Given the description of an element on the screen output the (x, y) to click on. 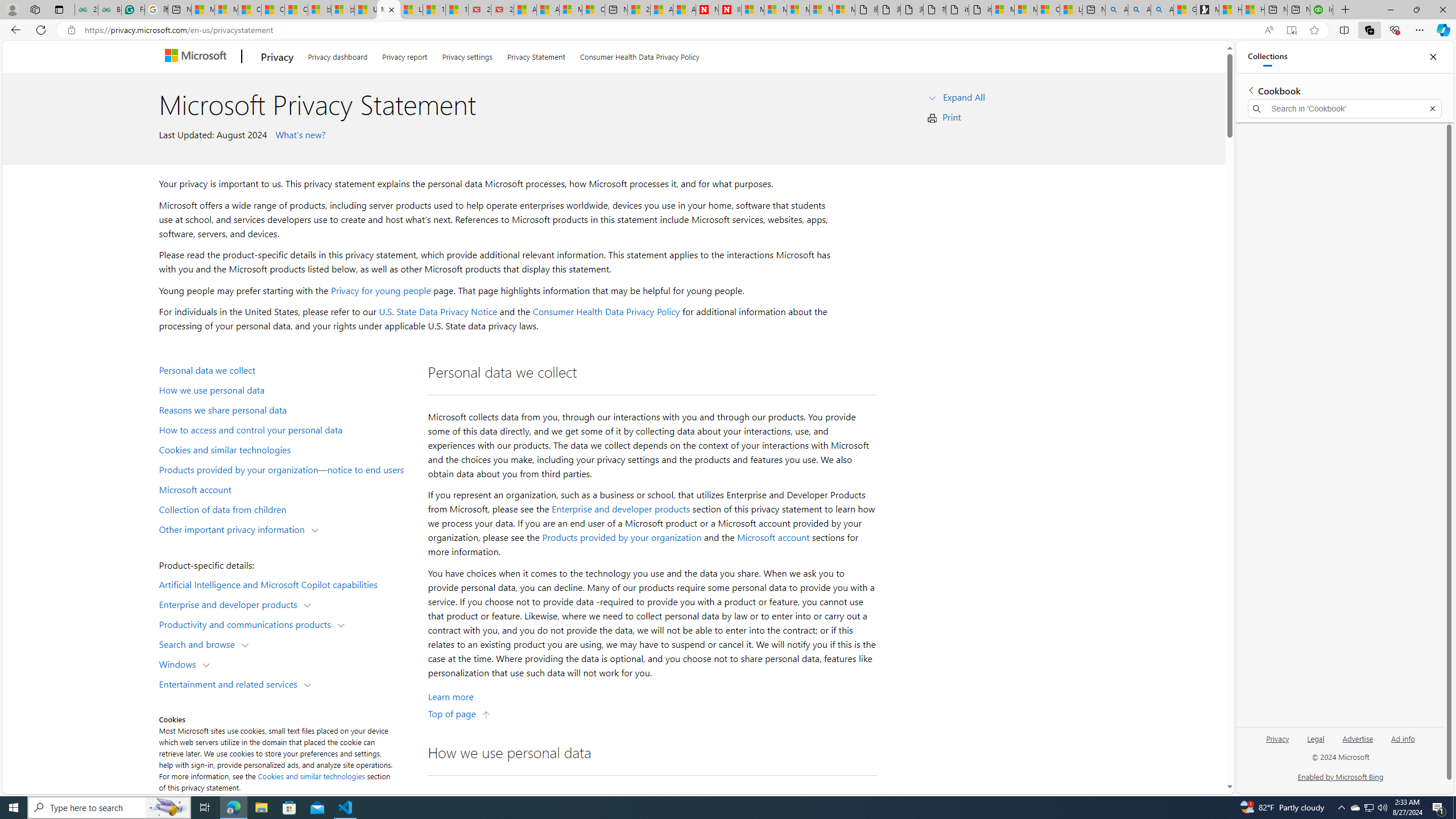
Privacy report (404, 54)
Newsweek - News, Analysis, Politics, Business, Technology (707, 9)
Consumer Health Data Privacy Policy (639, 54)
Windows (180, 663)
Consumer Health Data Privacy Policy (1048, 9)
Search in 'Cookbook' (1345, 108)
Exit search (1432, 108)
Lifestyle - MSN (411, 9)
USA TODAY - MSN (365, 9)
itconcepthk.com/projector_solutions.mp4 (979, 9)
